Given the description of an element on the screen output the (x, y) to click on. 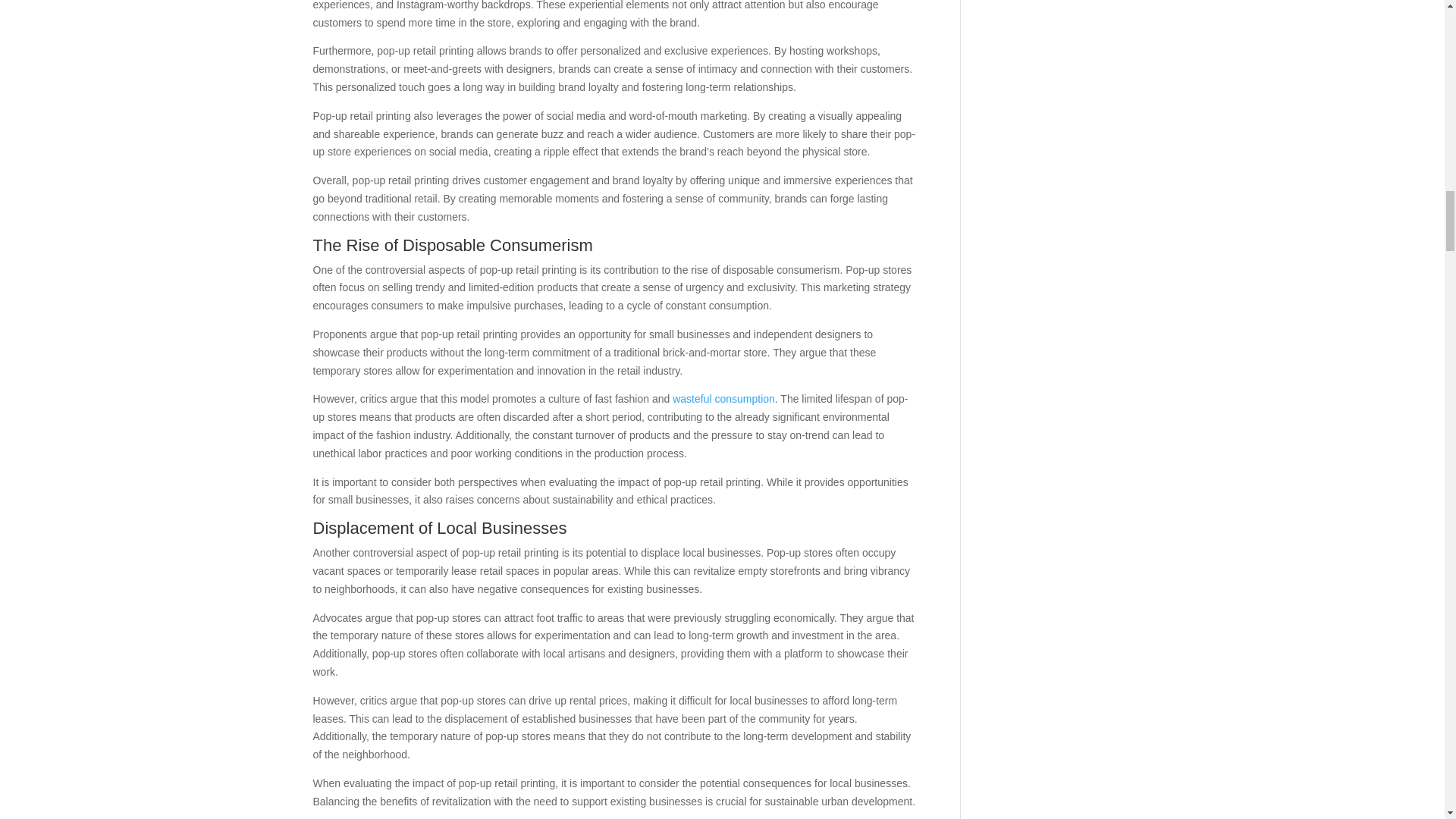
wasteful consumption (723, 398)
